Given the description of an element on the screen output the (x, y) to click on. 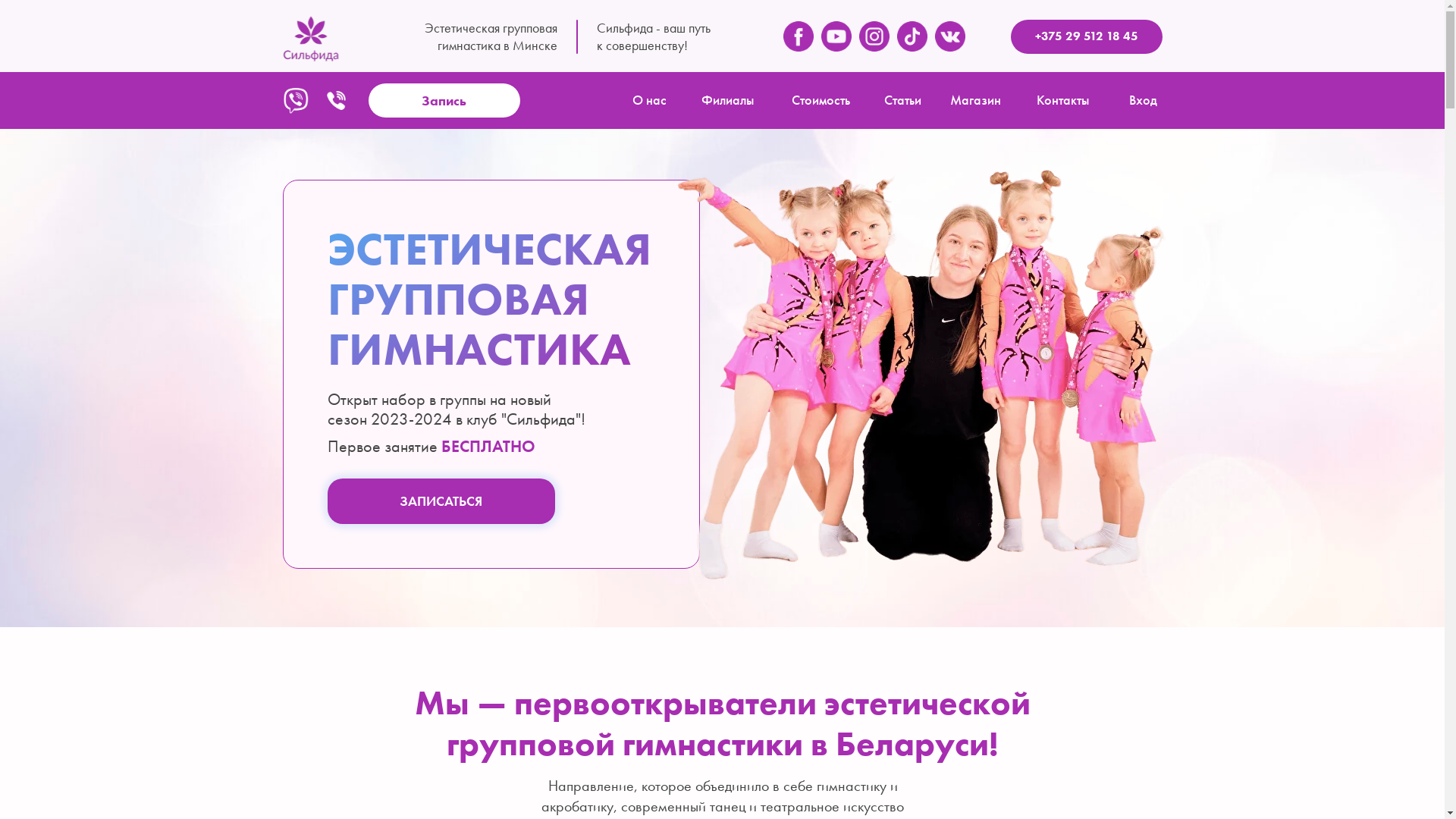
+375 29 512 18 45 Element type: text (1085, 36)
